Given the description of an element on the screen output the (x, y) to click on. 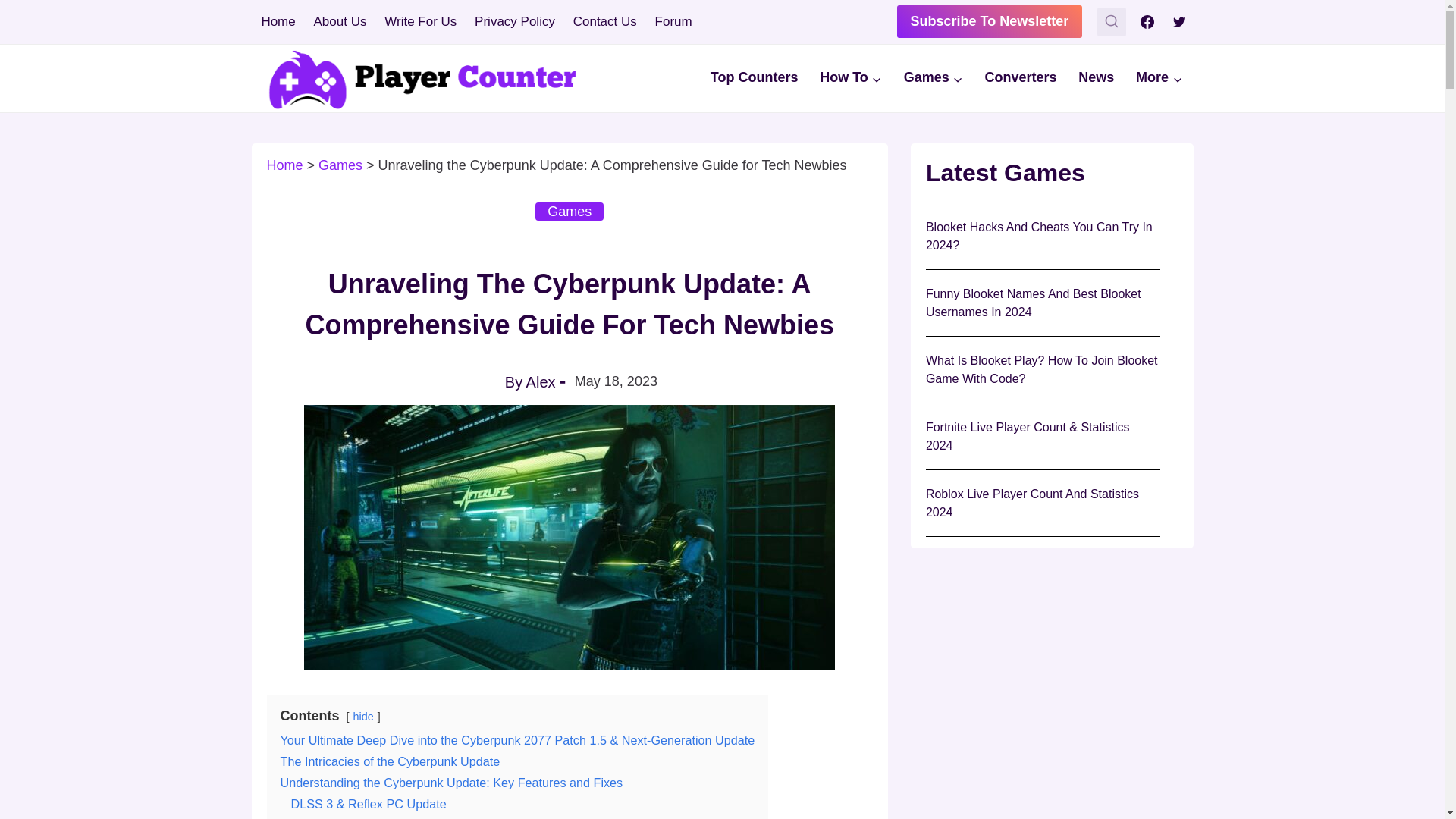
Home (277, 22)
Forum (673, 22)
Top Counters (753, 78)
News (1096, 78)
How To (850, 78)
Privacy Policy (514, 22)
hide (363, 716)
The Intricacies of the Cyberpunk Update (390, 761)
Games (569, 211)
More (1159, 78)
Subscribe To Newsletter (989, 20)
Write For Us (420, 22)
Understanding the Cyberpunk Update: Key Features and Fixes (452, 782)
Go to Player Counter. (284, 165)
